Given the description of an element on the screen output the (x, y) to click on. 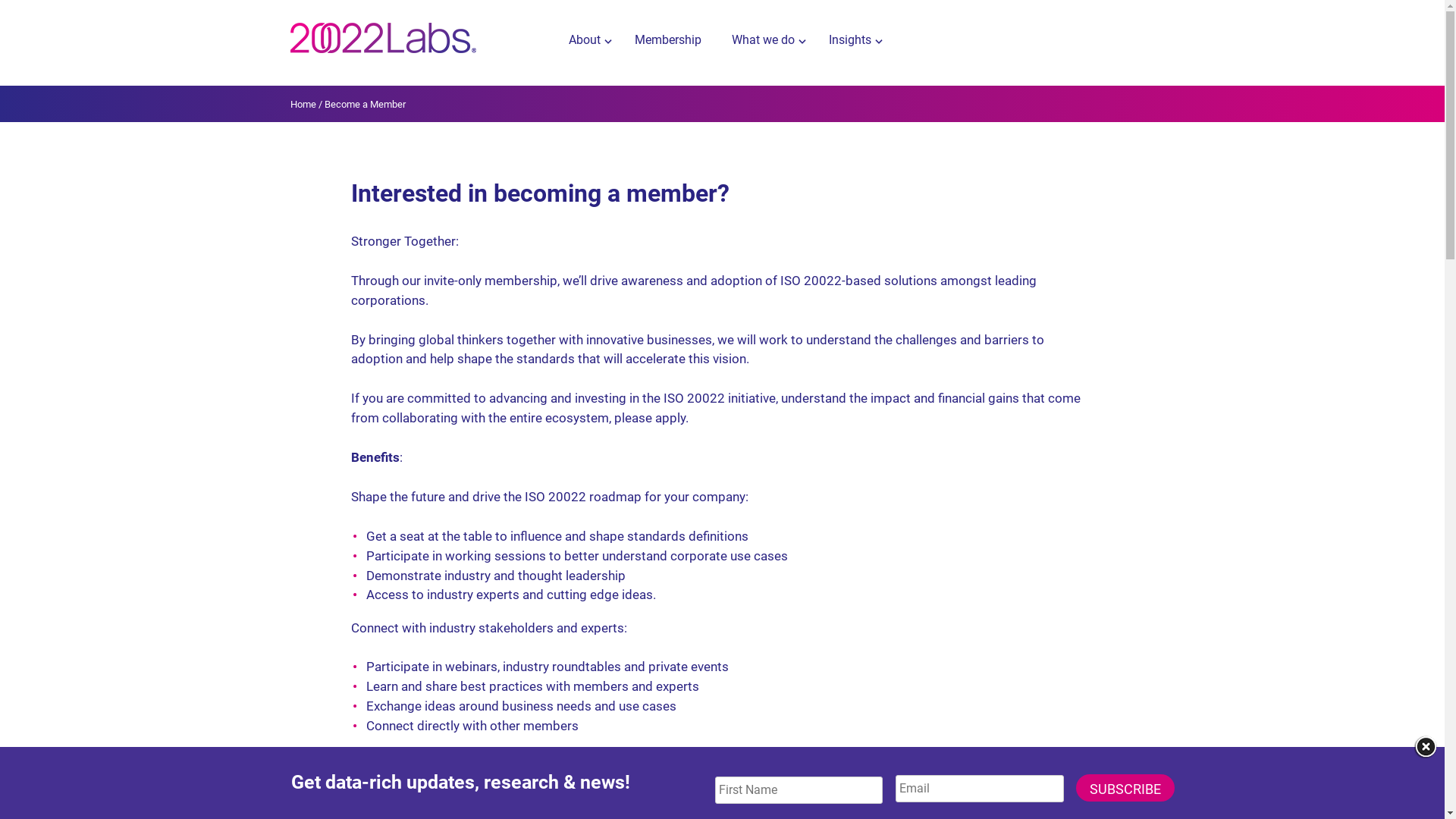
Membership Element type: text (666, 40)
Skip to content Element type: text (0, 0)
What we do Element type: text (763, 40)
ACCEPT Element type: text (956, 797)
Subscribe Element type: text (1125, 787)
Close Element type: hover (1425, 746)
Insights Element type: text (850, 40)
Home Element type: text (302, 104)
